Given the description of an element on the screen output the (x, y) to click on. 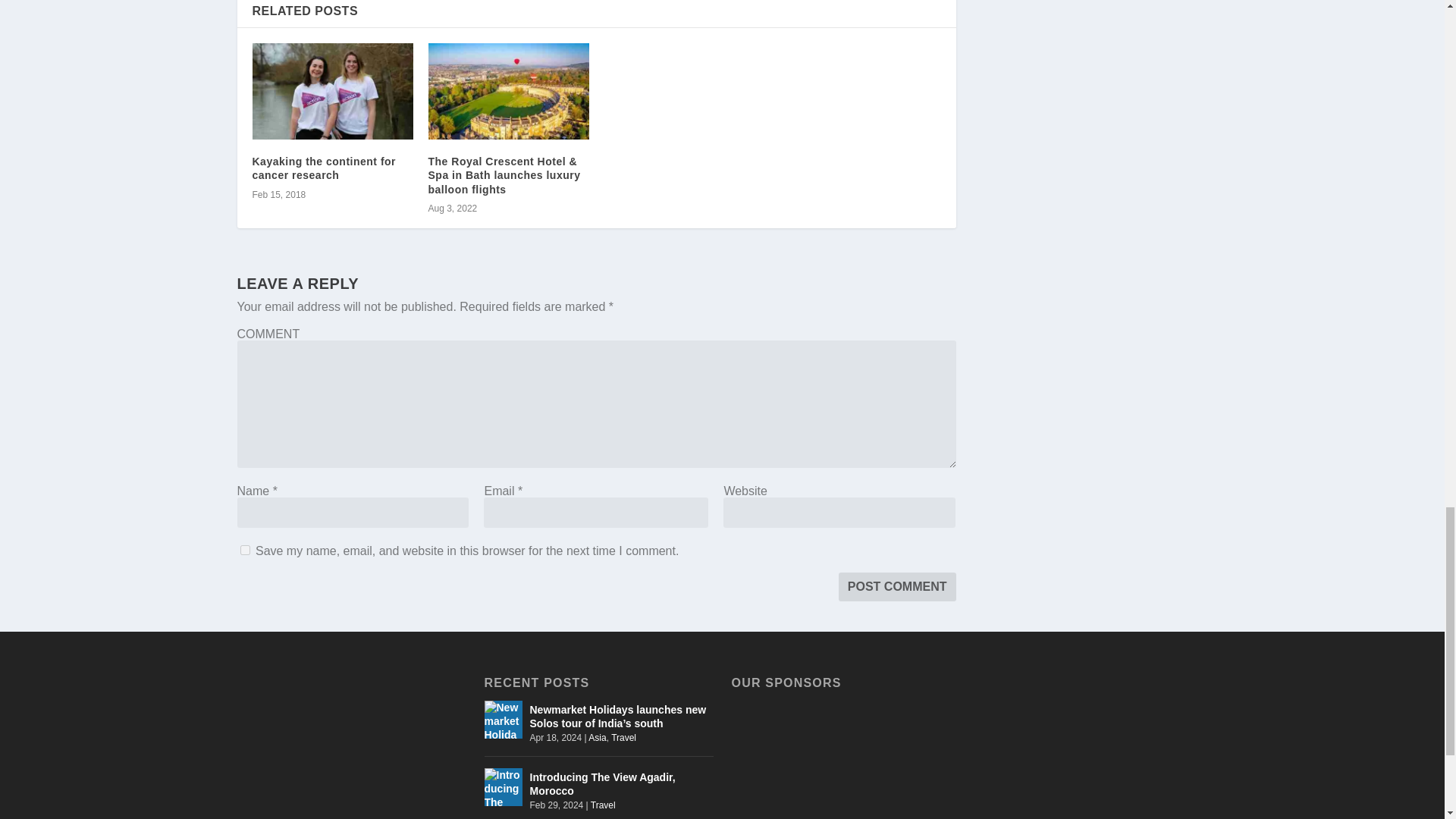
yes (244, 550)
Kayaking the continent for cancer research (323, 167)
Post Comment (897, 586)
